Given the description of an element on the screen output the (x, y) to click on. 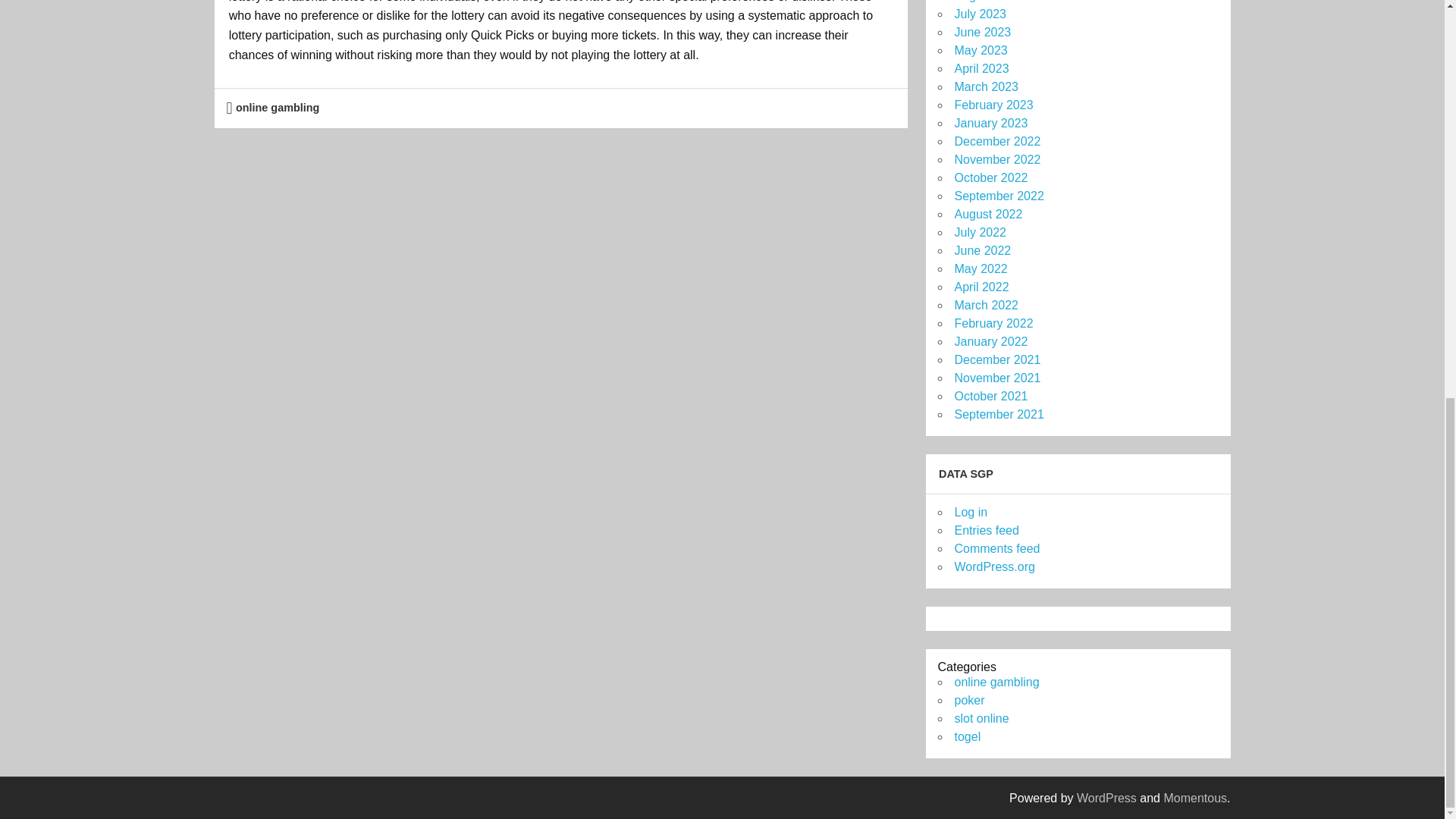
July 2023 (979, 13)
August 2022 (987, 214)
October 2022 (990, 177)
April 2023 (981, 68)
May 2023 (980, 50)
July 2022 (979, 232)
WordPress (1107, 797)
Momentous WordPress Theme (1195, 797)
August 2023 (987, 1)
online gambling (276, 107)
